Given the description of an element on the screen output the (x, y) to click on. 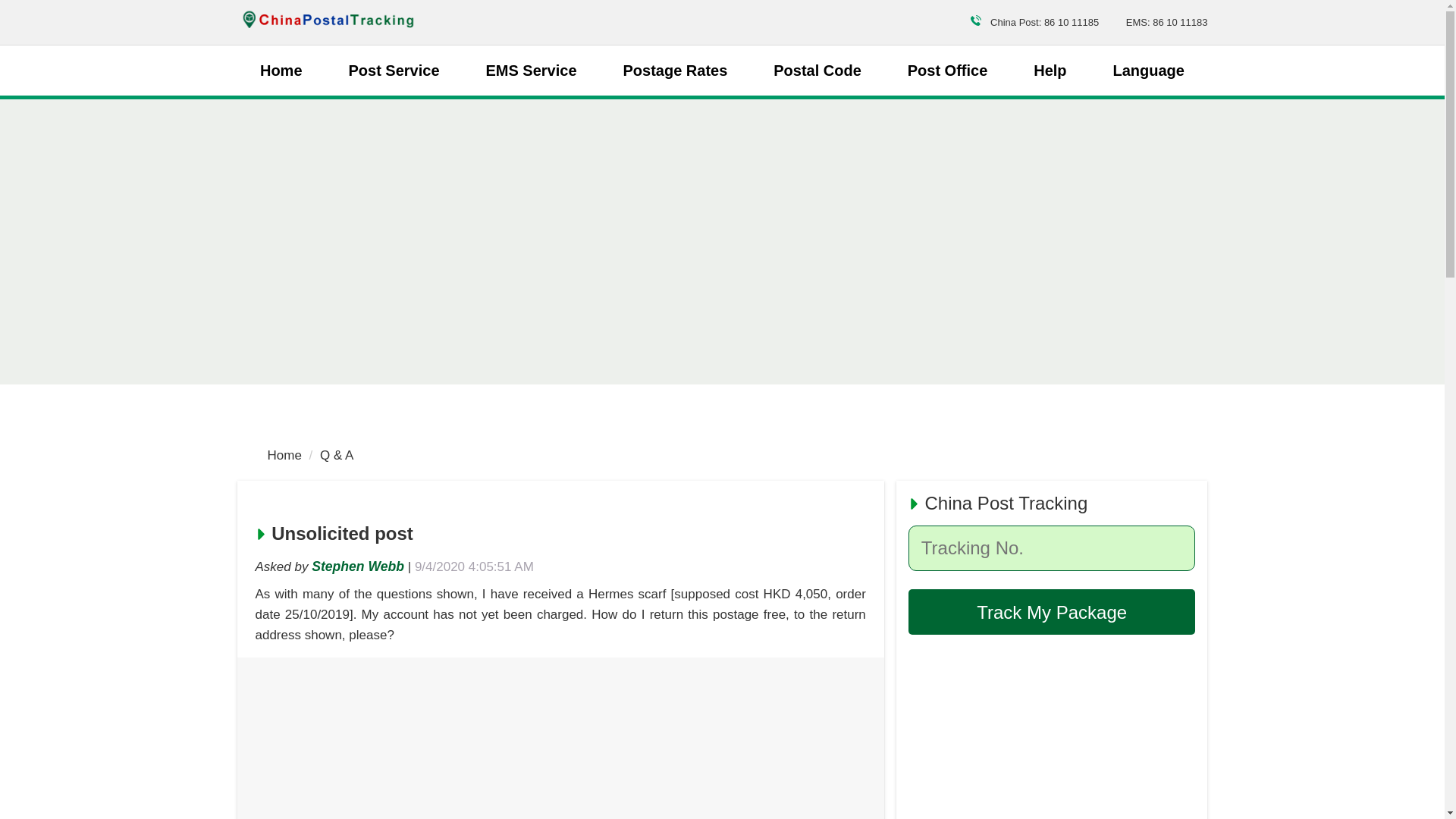
Postage Rates (674, 70)
Advertisement (560, 750)
Post Service (393, 70)
Home (281, 70)
Home (283, 454)
Post Office (947, 70)
EMS Service (530, 70)
Postal Code (817, 70)
Advertisement (1051, 733)
